Given the description of an element on the screen output the (x, y) to click on. 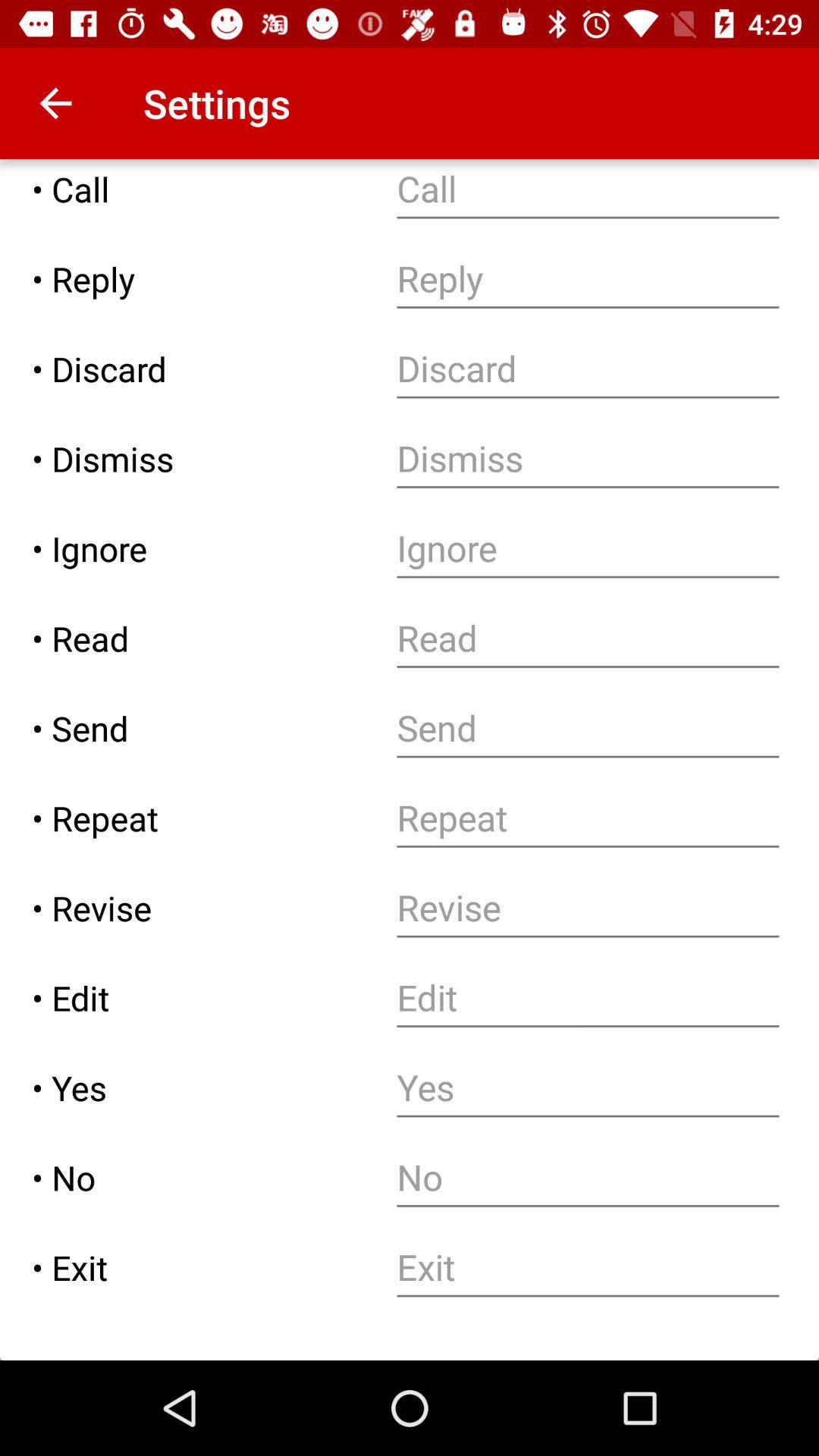
send (588, 728)
